Given the description of an element on the screen output the (x, y) to click on. 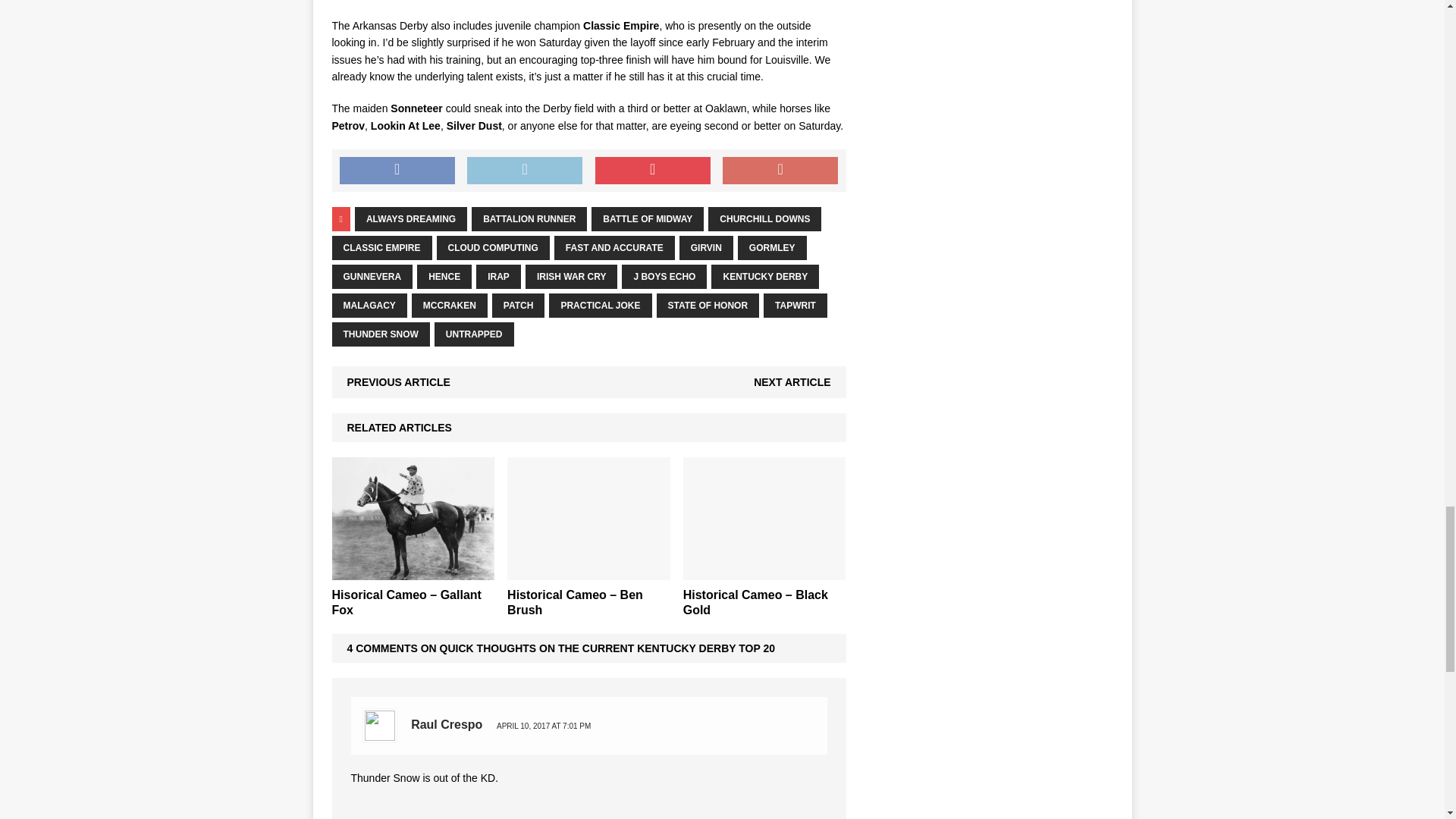
Share on Facebook (396, 170)
Tweet This Post (524, 170)
Pin This Post (652, 170)
